Given the description of an element on the screen output the (x, y) to click on. 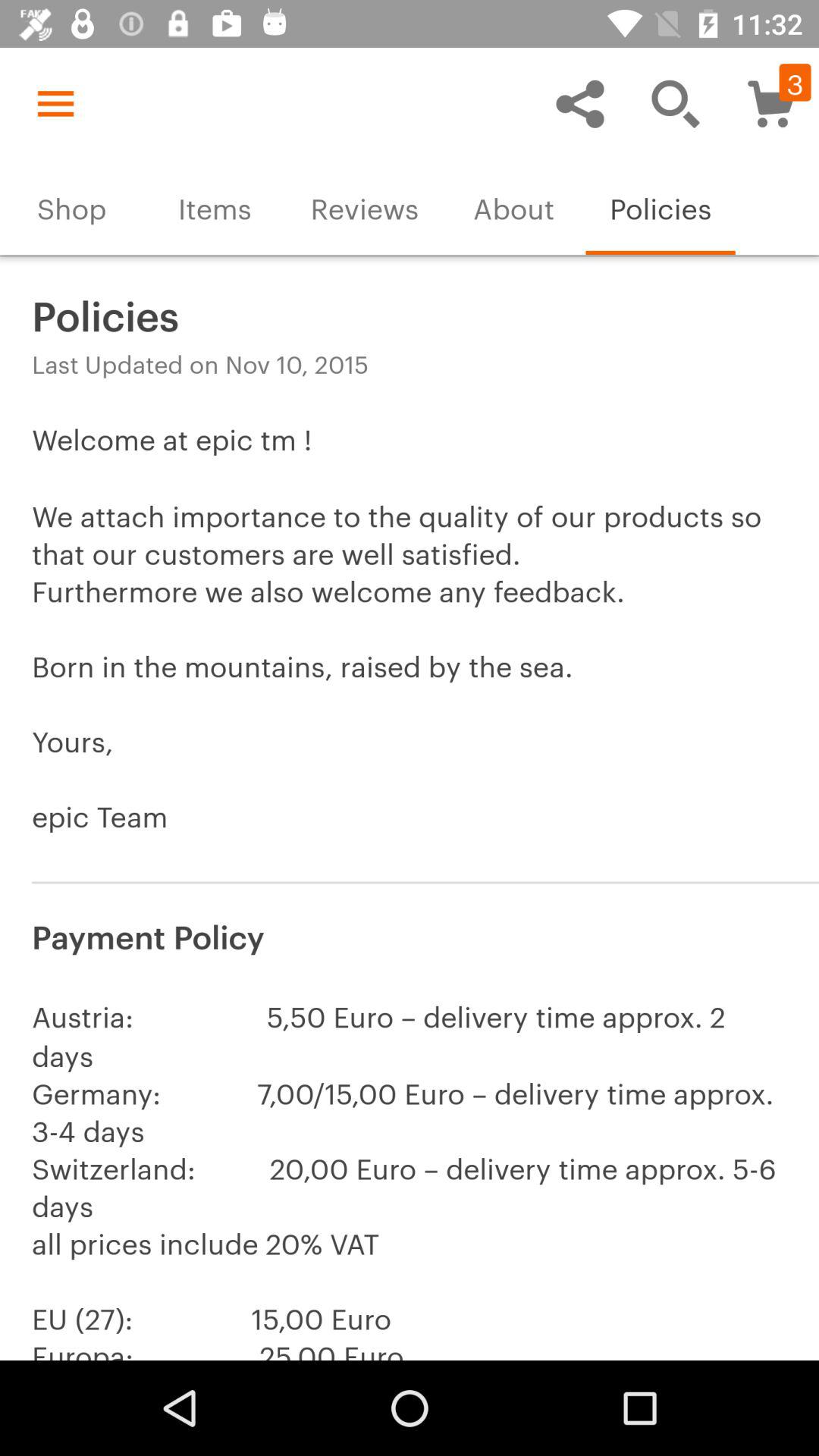
select item below the payment policy item (409, 1174)
